Given the description of an element on the screen output the (x, y) to click on. 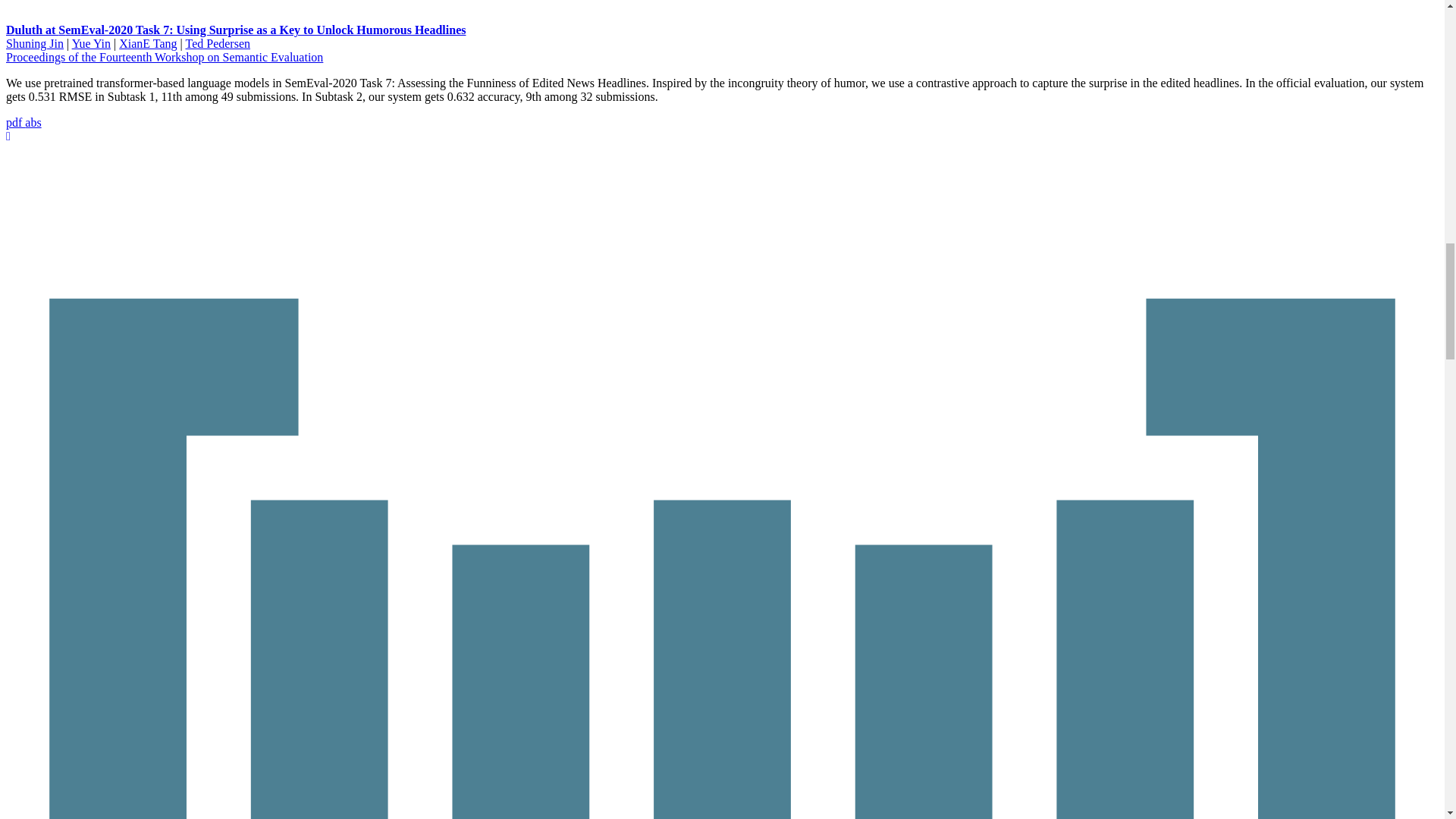
Shuning Jin (34, 42)
Show Abstract (32, 122)
Yue Yin (90, 42)
Video (7, 135)
abs (32, 122)
XianE Tang (147, 42)
Ted Pedersen (217, 42)
Open PDF (14, 122)
pdf (14, 122)
